Given the description of an element on the screen output the (x, y) to click on. 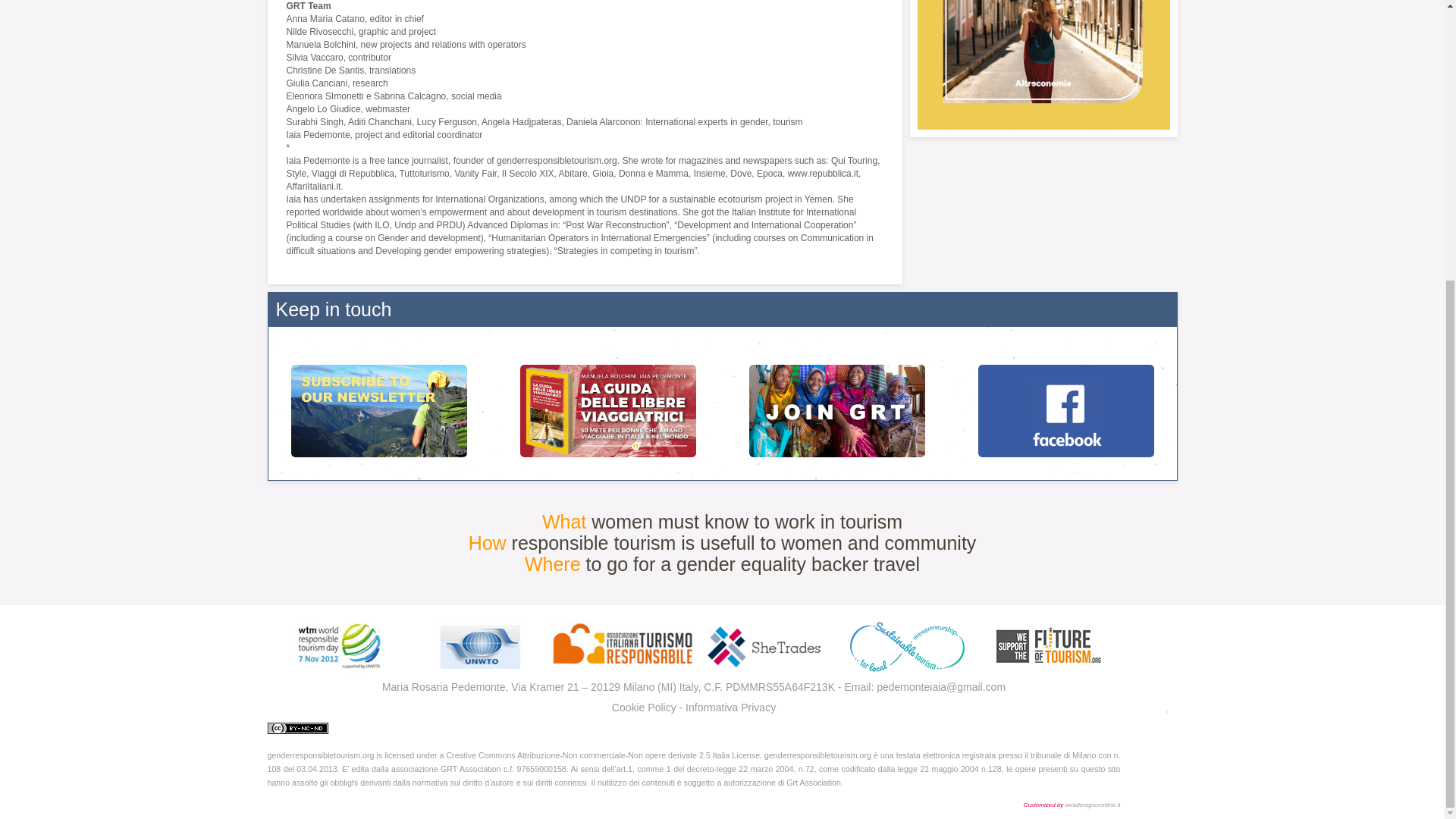
Subscribe to our Newsletter (378, 406)
Cookie Policy (644, 706)
Facebook (1065, 406)
Informativa Privacy (730, 706)
Join GRT (836, 406)
webdesigneronline.it (1093, 803)
La Guida delle Libere viaggiatrici (608, 406)
